Given the description of an element on the screen output the (x, y) to click on. 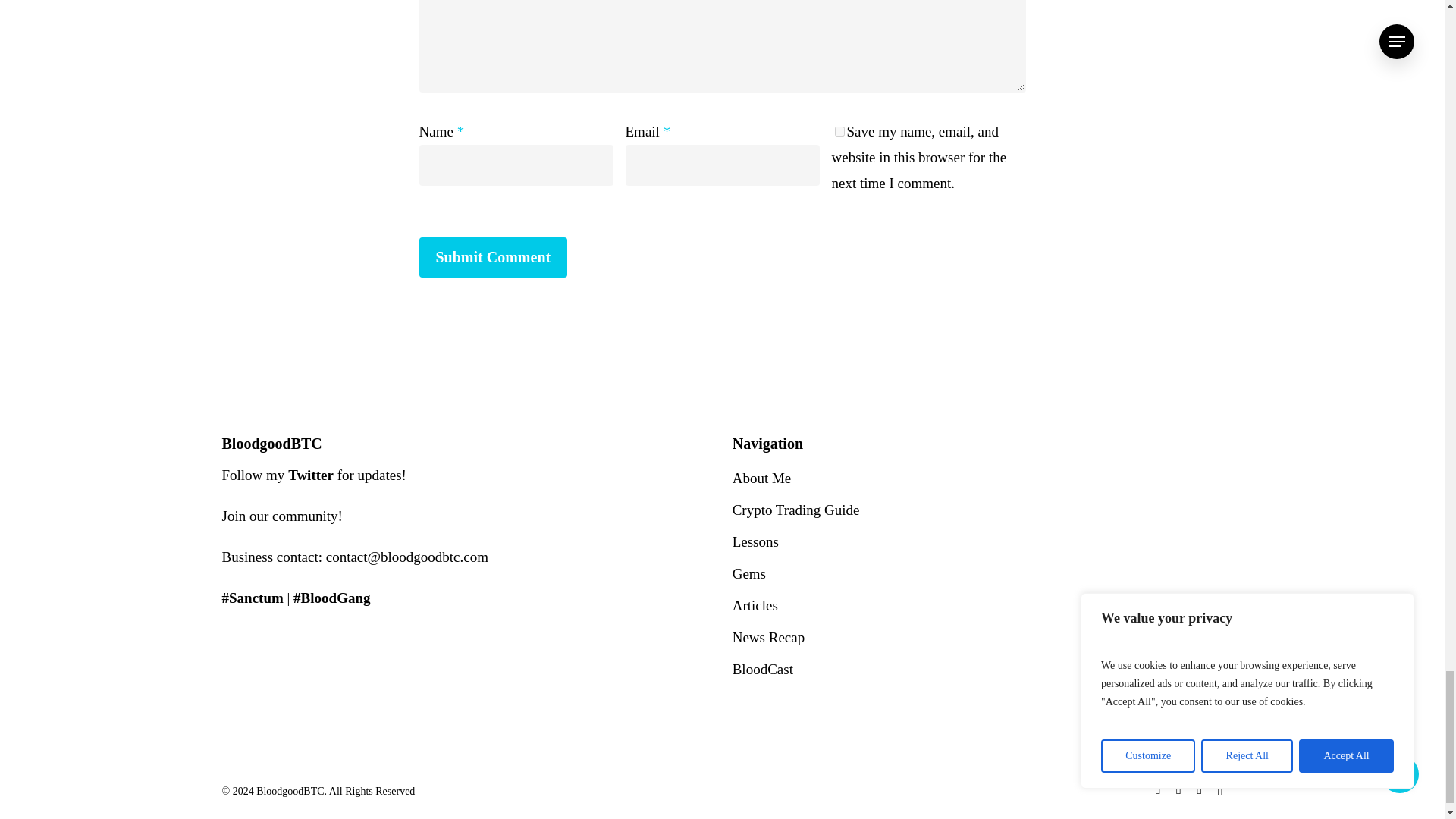
Submit Comment (493, 257)
Submit Comment (493, 257)
yes (839, 131)
